Given the description of an element on the screen output the (x, y) to click on. 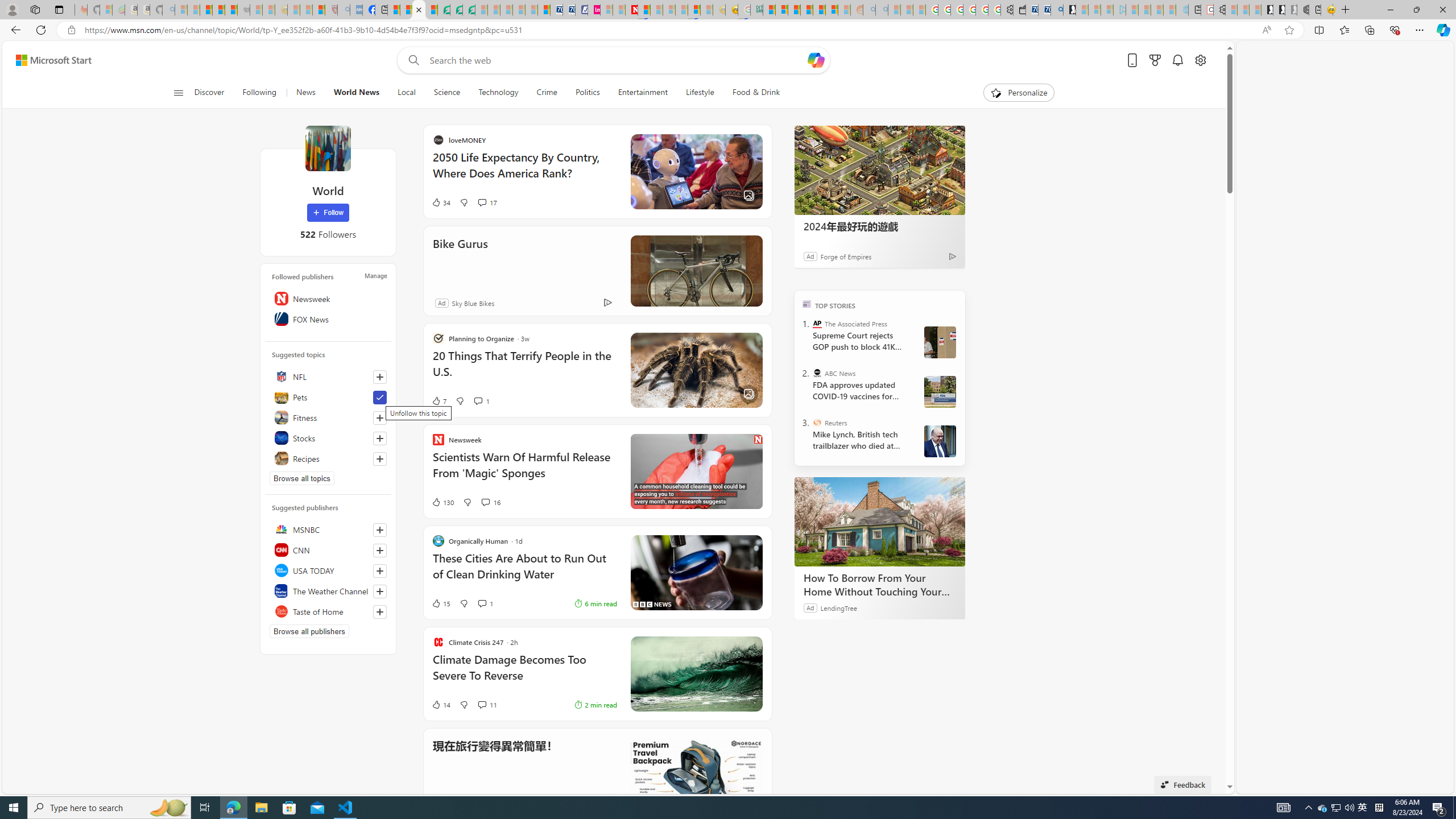
Cheap Hotels - Save70.com (568, 9)
Scientists Warn Of Harmful Release From 'Magic' Sponges (524, 470)
Pets (327, 397)
Kinda Frugal - MSN (818, 9)
